Given the description of an element on the screen output the (x, y) to click on. 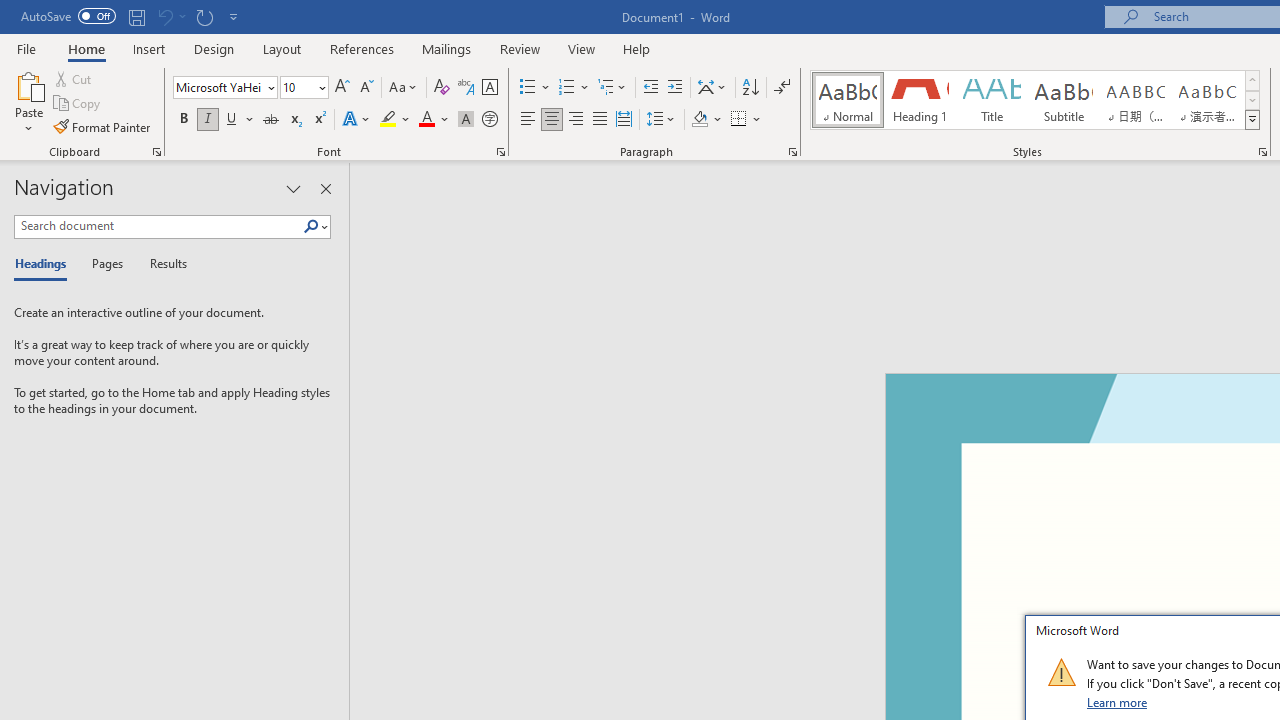
Learn more (1118, 702)
Font Color Red (426, 119)
Can't Undo (170, 15)
